Given the description of an element on the screen output the (x, y) to click on. 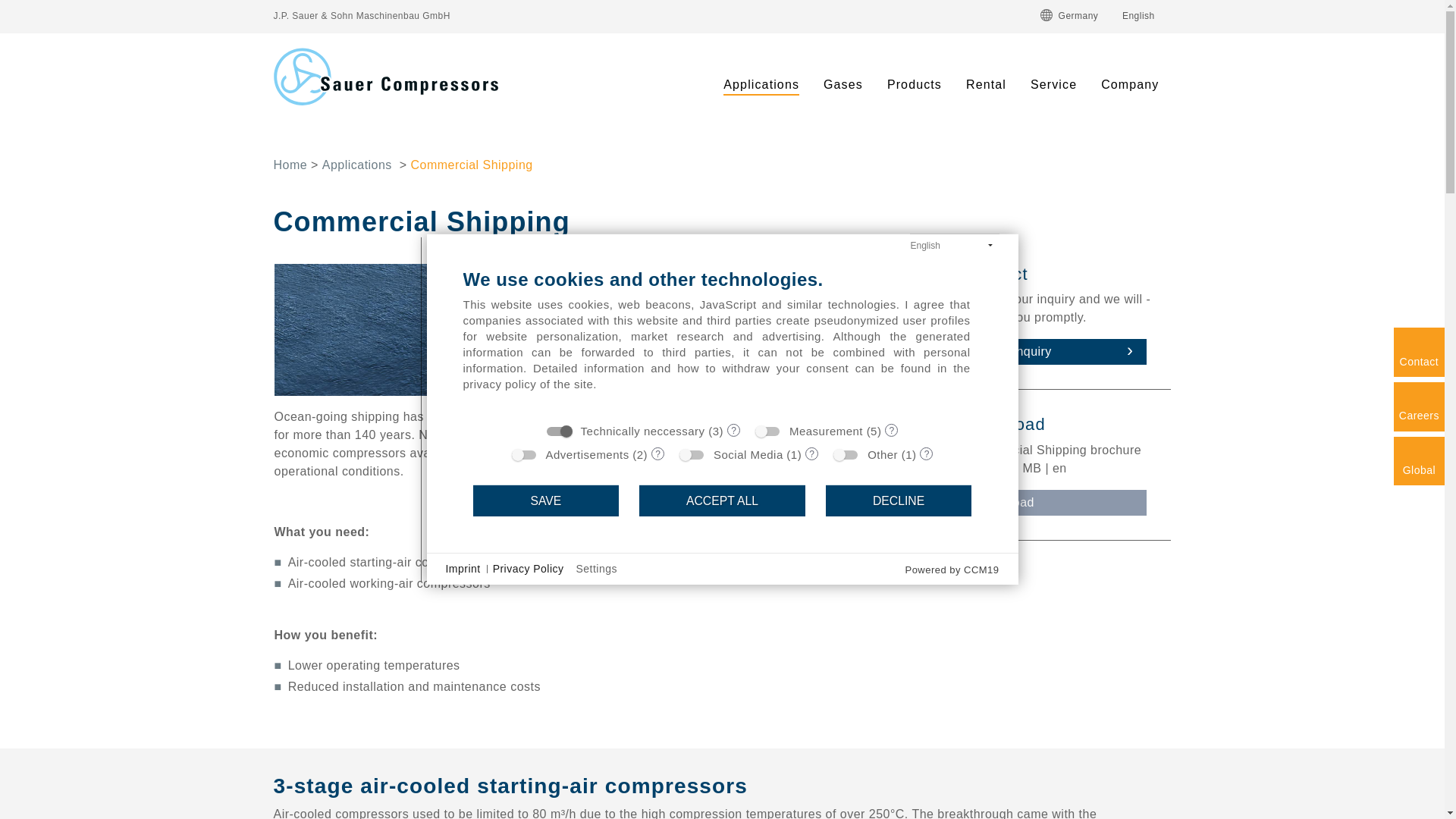
Applications (761, 85)
Applications (761, 85)
English (1144, 15)
Germany (1075, 15)
